Given the description of an element on the screen output the (x, y) to click on. 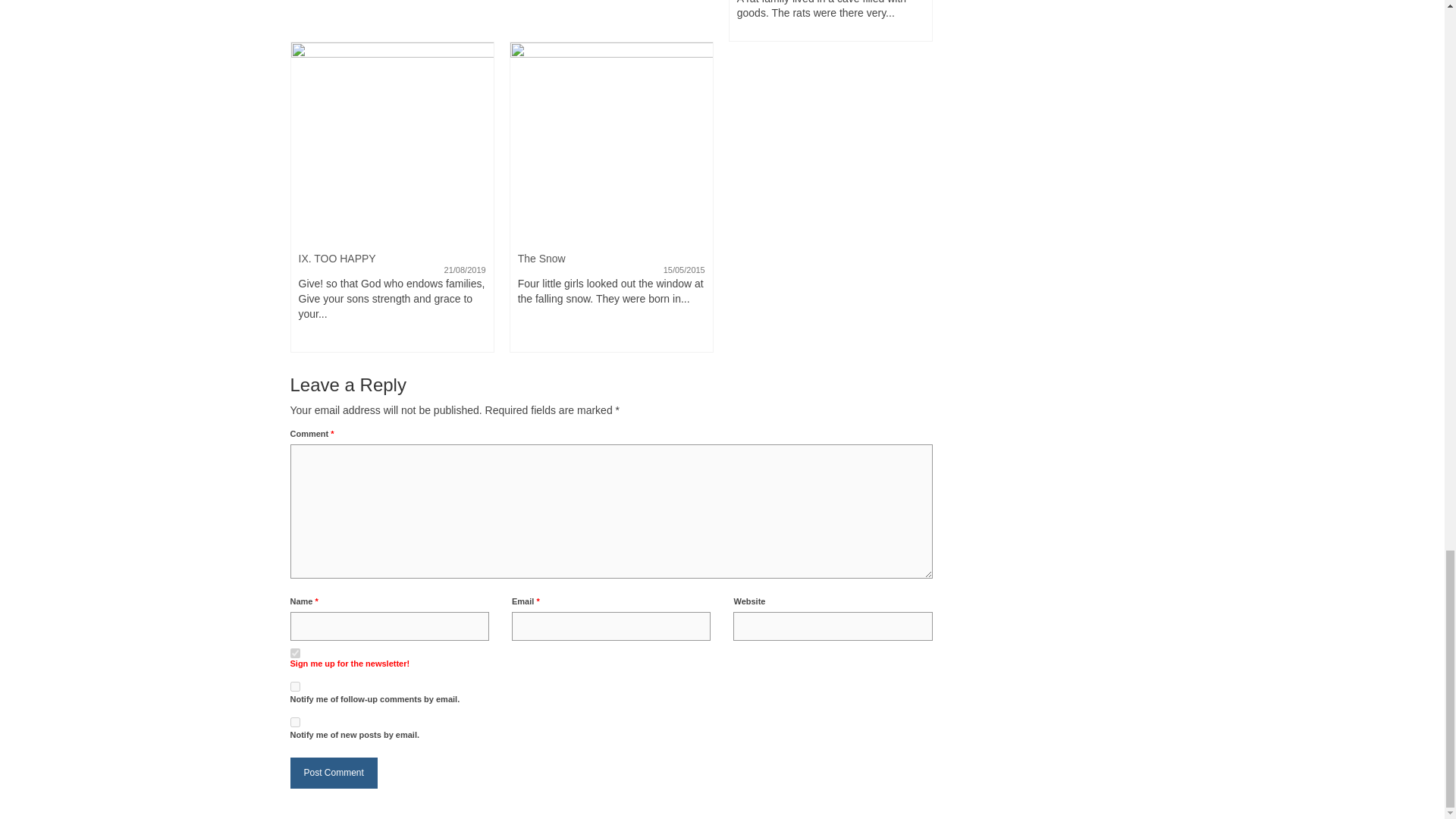
1 (294, 653)
subscribe (294, 686)
subscribe (294, 722)
Post Comment (333, 772)
